Given the description of an element on the screen output the (x, y) to click on. 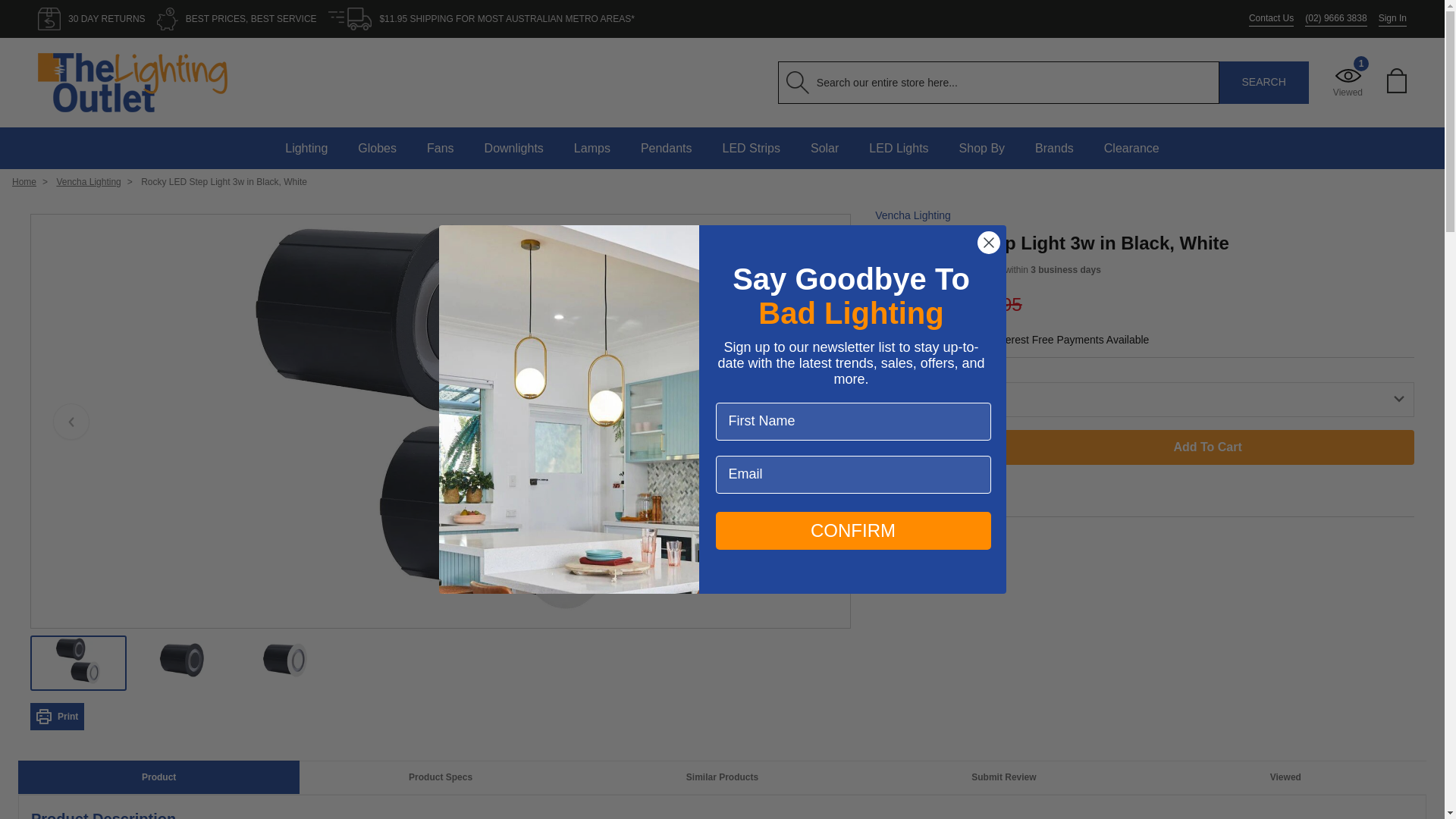
Search (1264, 82)
Search (1264, 82)
Sign In (1392, 18)
Lighting (306, 147)
Contact Us (1271, 18)
Search (1264, 82)
Back to the frontpage (23, 181)
Close dialog 1 (987, 241)
